Given the description of an element on the screen output the (x, y) to click on. 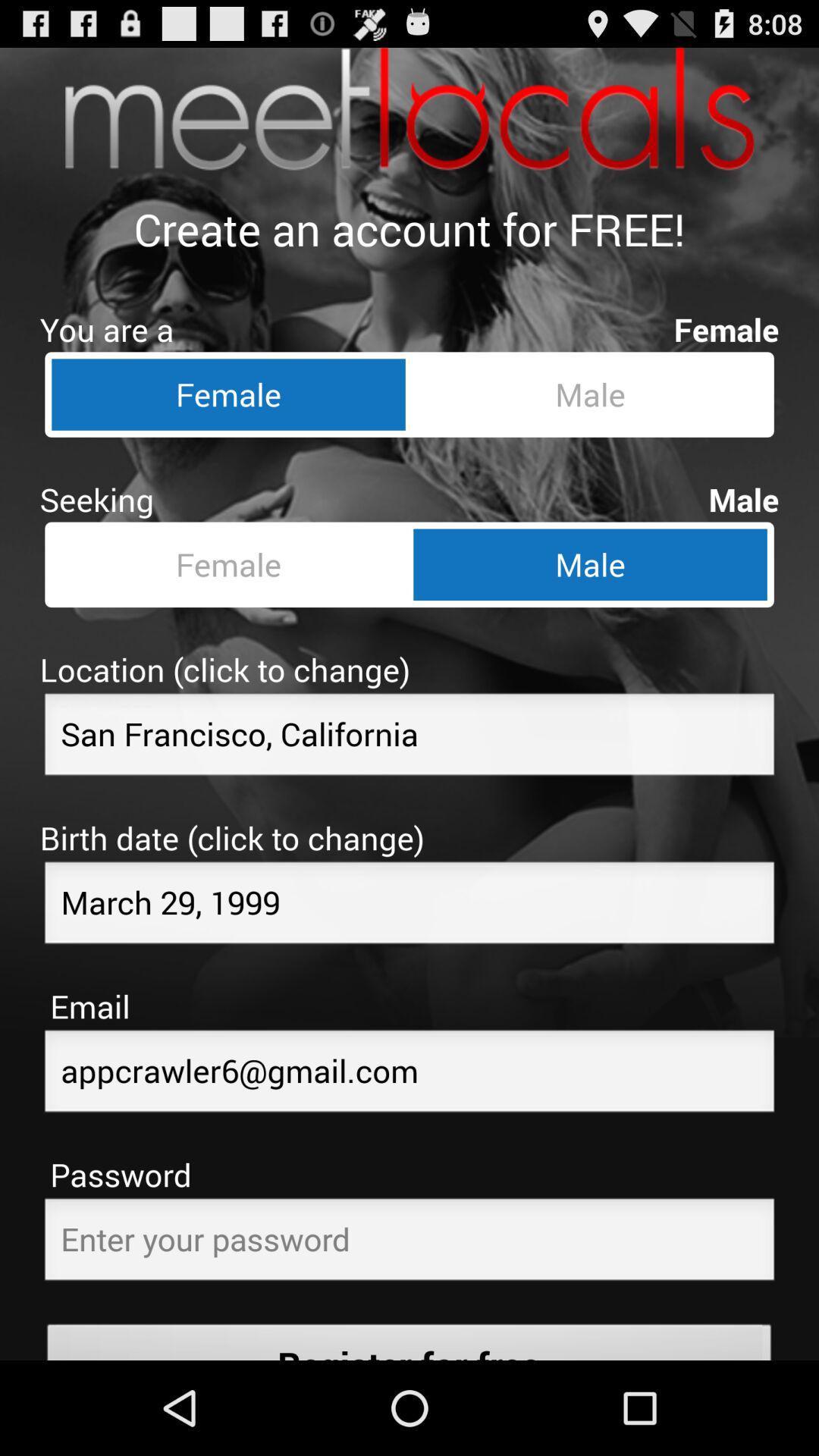
change the birth date (409, 906)
